Given the description of an element on the screen output the (x, y) to click on. 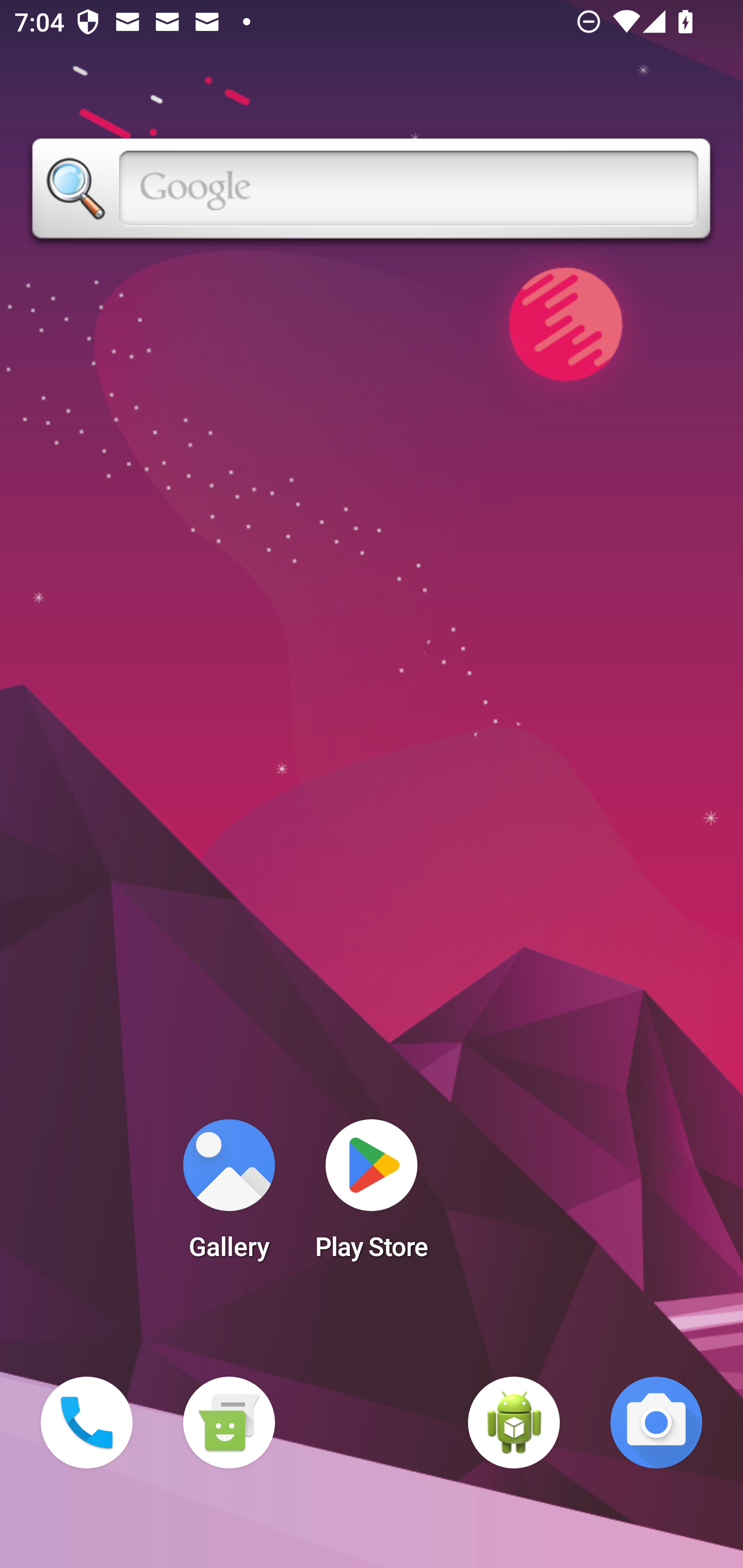
Gallery (228, 1195)
Play Store (371, 1195)
Phone (86, 1422)
Messaging (228, 1422)
WebView Browser Tester (513, 1422)
Camera (656, 1422)
